Given the description of an element on the screen output the (x, y) to click on. 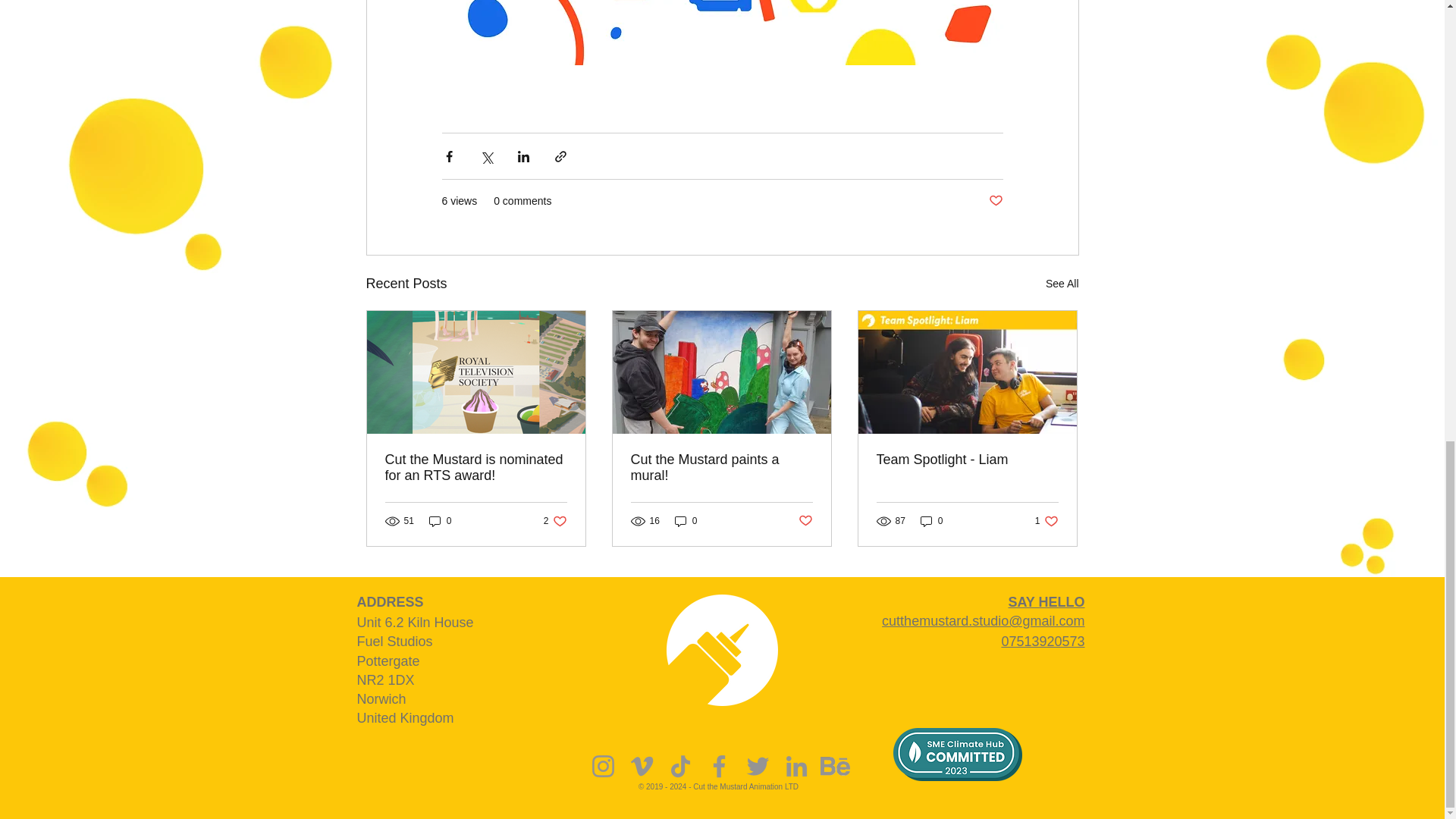
SAY HELLO (1045, 601)
Cut the Mustard paints a mural! (555, 521)
0 (721, 468)
0 (440, 521)
0 (685, 521)
See All (931, 521)
Post not marked as liked (1061, 283)
07513920573 (995, 201)
